Given the description of an element on the screen output the (x, y) to click on. 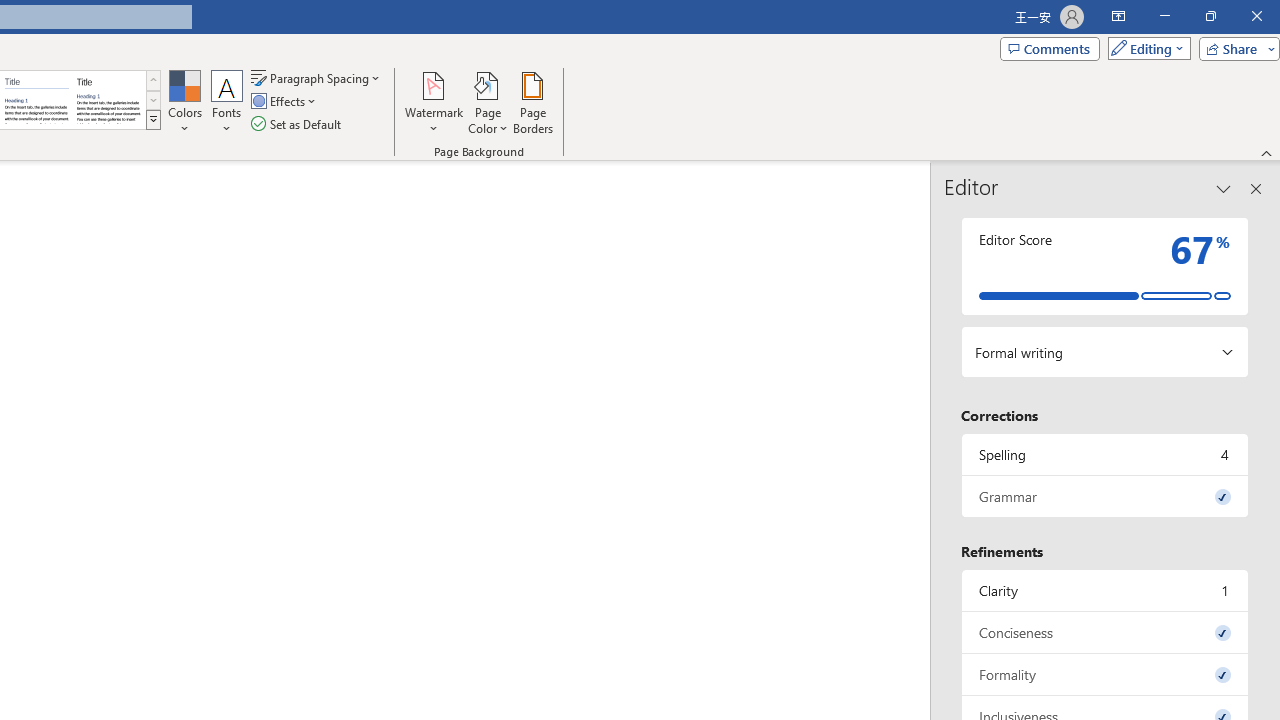
Page Color (487, 102)
Watermark (434, 102)
Formality, 0 issues. Press space or enter to review items. (1105, 673)
Grammar, 0 issues. Press space or enter to review items. (1105, 495)
Editing (1144, 47)
Spelling, 4 issues. Press space or enter to review items. (1105, 454)
Fonts (227, 102)
Effects (285, 101)
Clarity, 1 issue. Press space or enter to review items. (1105, 590)
